Given the description of an element on the screen output the (x, y) to click on. 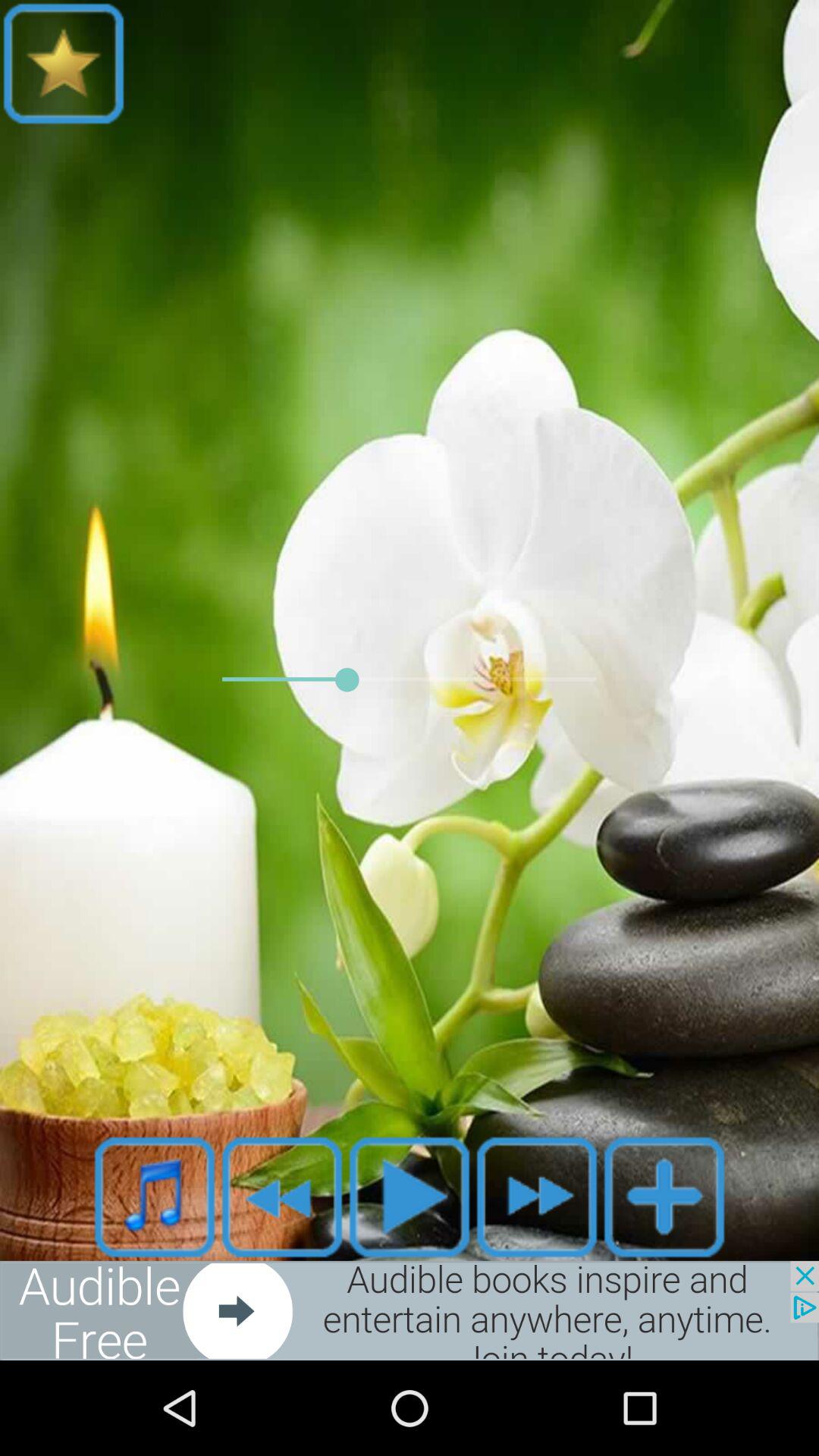
add to playlist (664, 1196)
